Given the description of an element on the screen output the (x, y) to click on. 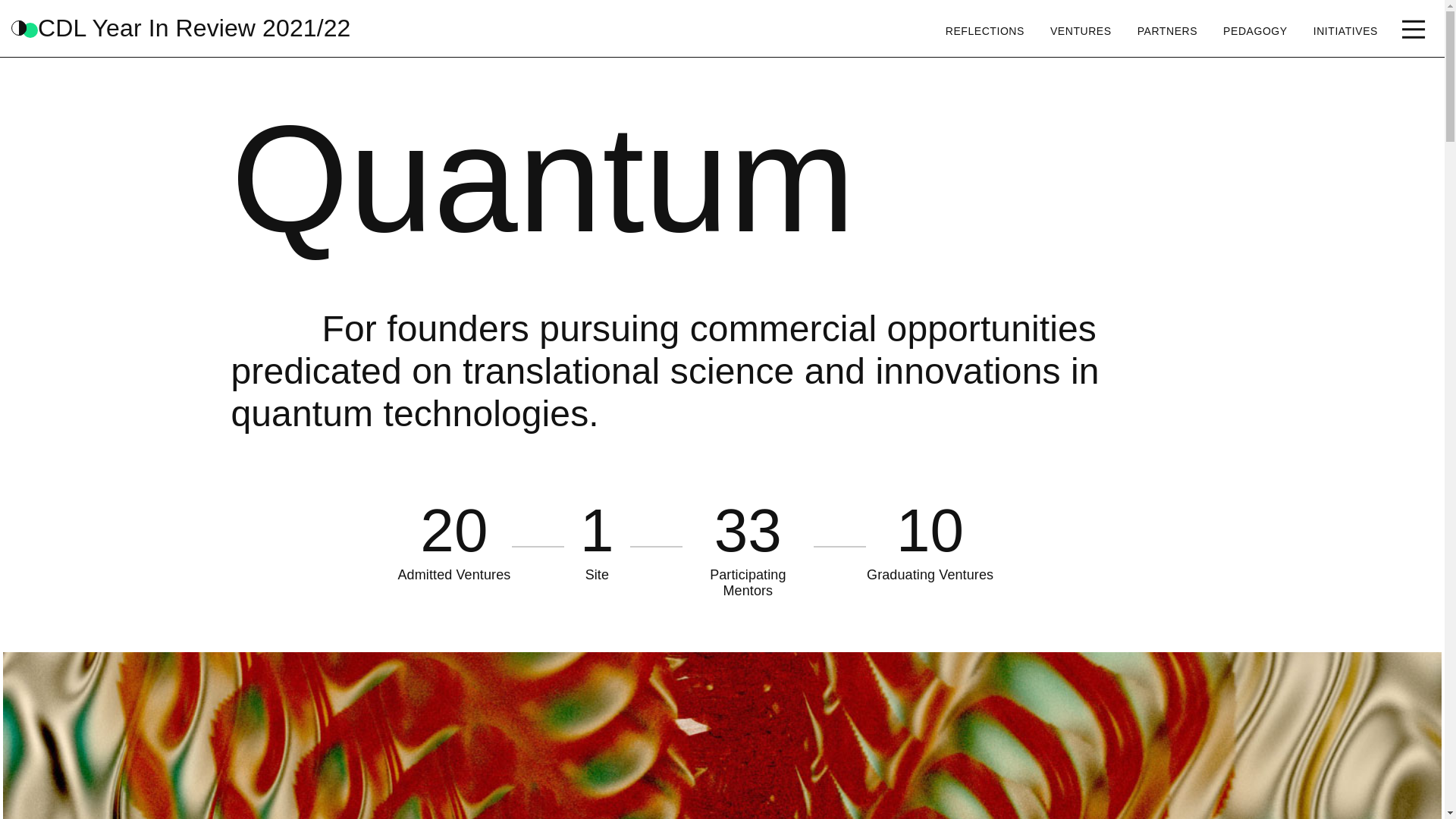
INITIATIVES (1345, 30)
VENTURES (1080, 30)
PARTNERS (1167, 30)
PEDAGOGY (1254, 30)
REFLECTIONS (984, 30)
